Given the description of an element on the screen output the (x, y) to click on. 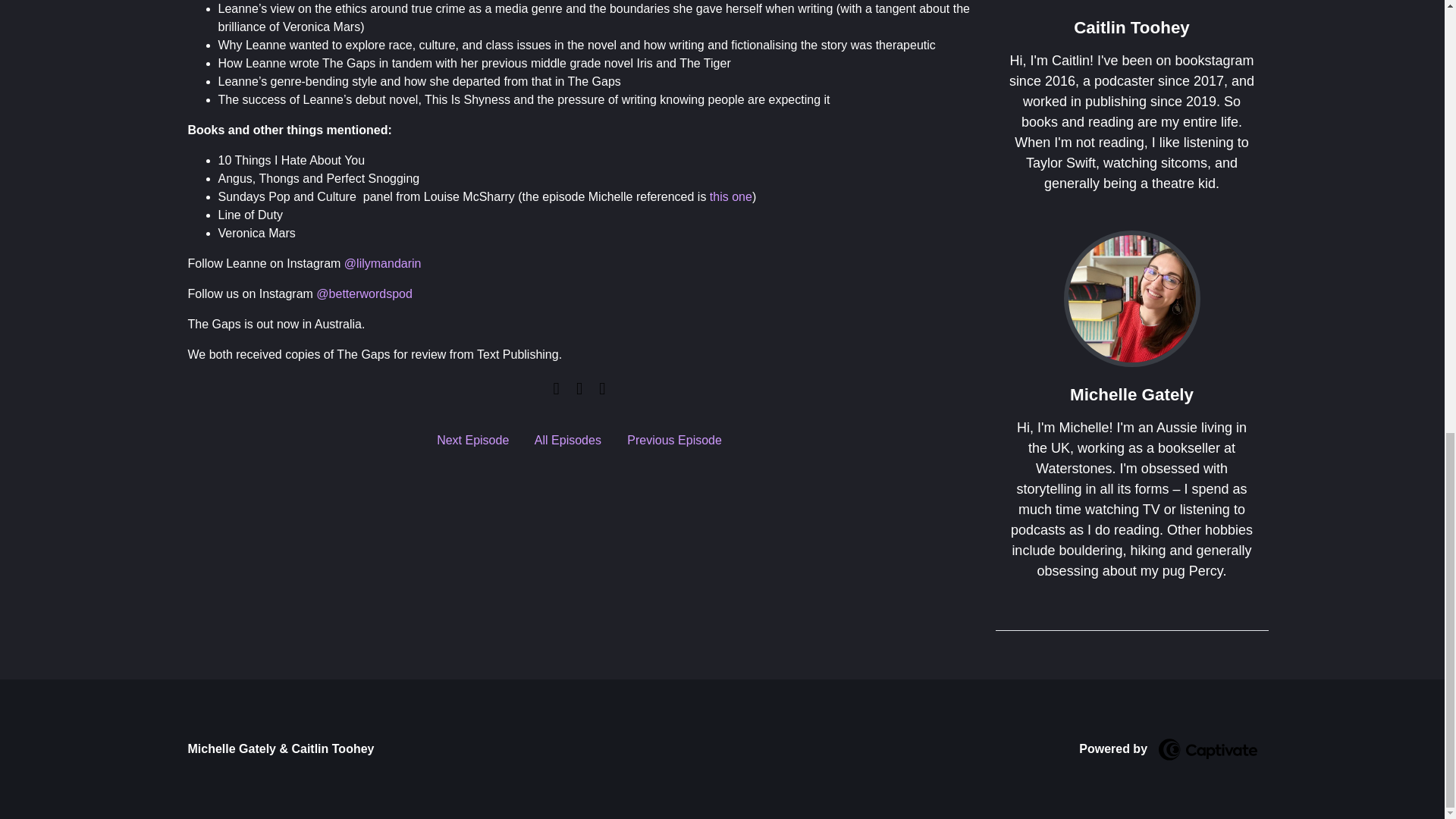
Previous Episode (674, 440)
Next Episode (472, 440)
All Episodes (567, 440)
this one (731, 196)
